Given the description of an element on the screen output the (x, y) to click on. 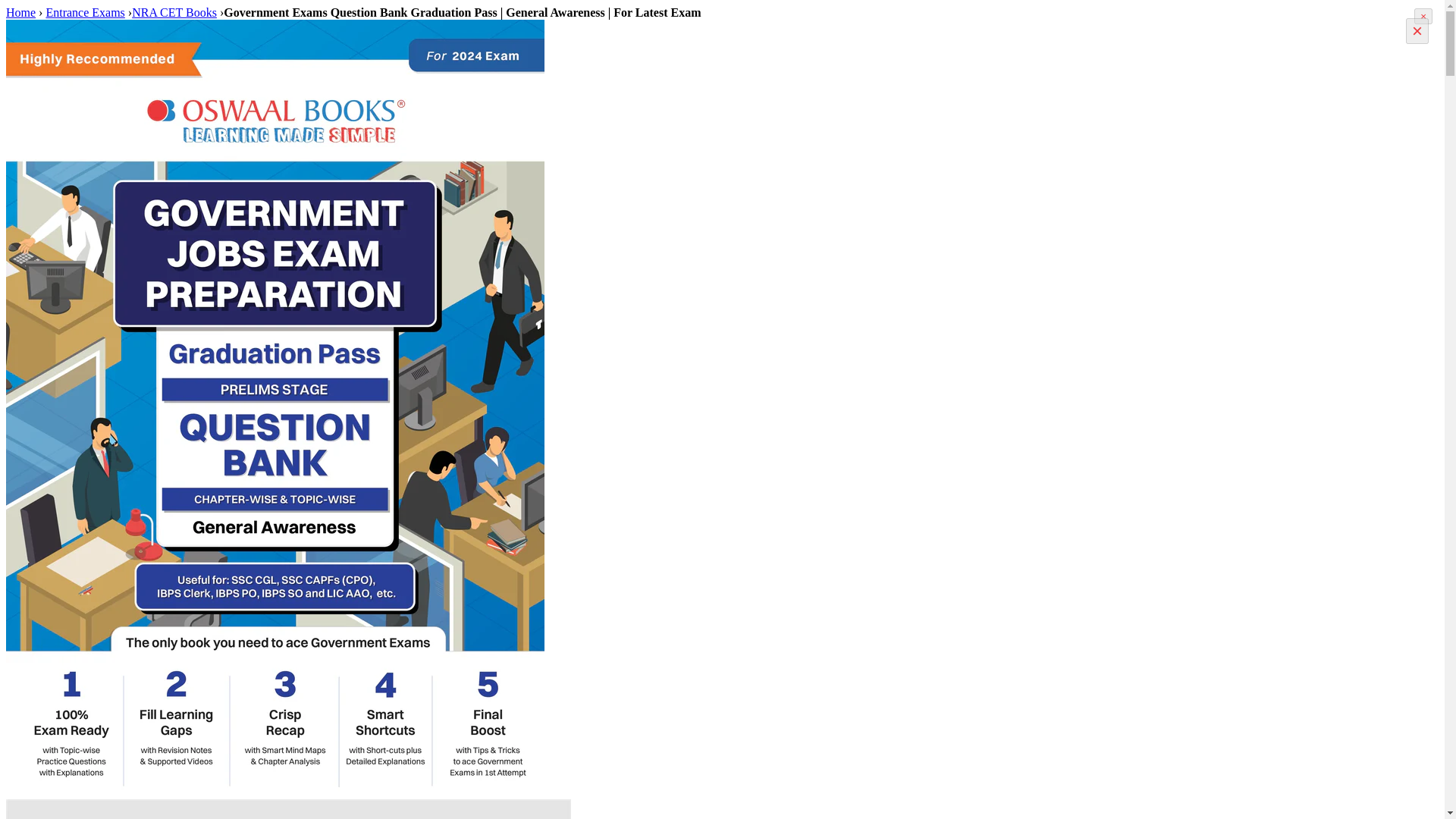
Entrance Exams (84, 11)
Home (19, 11)
Home (19, 11)
Entrance Exams (84, 11)
NRA CET Books (174, 11)
NRA CET Books (174, 11)
